Given the description of an element on the screen output the (x, y) to click on. 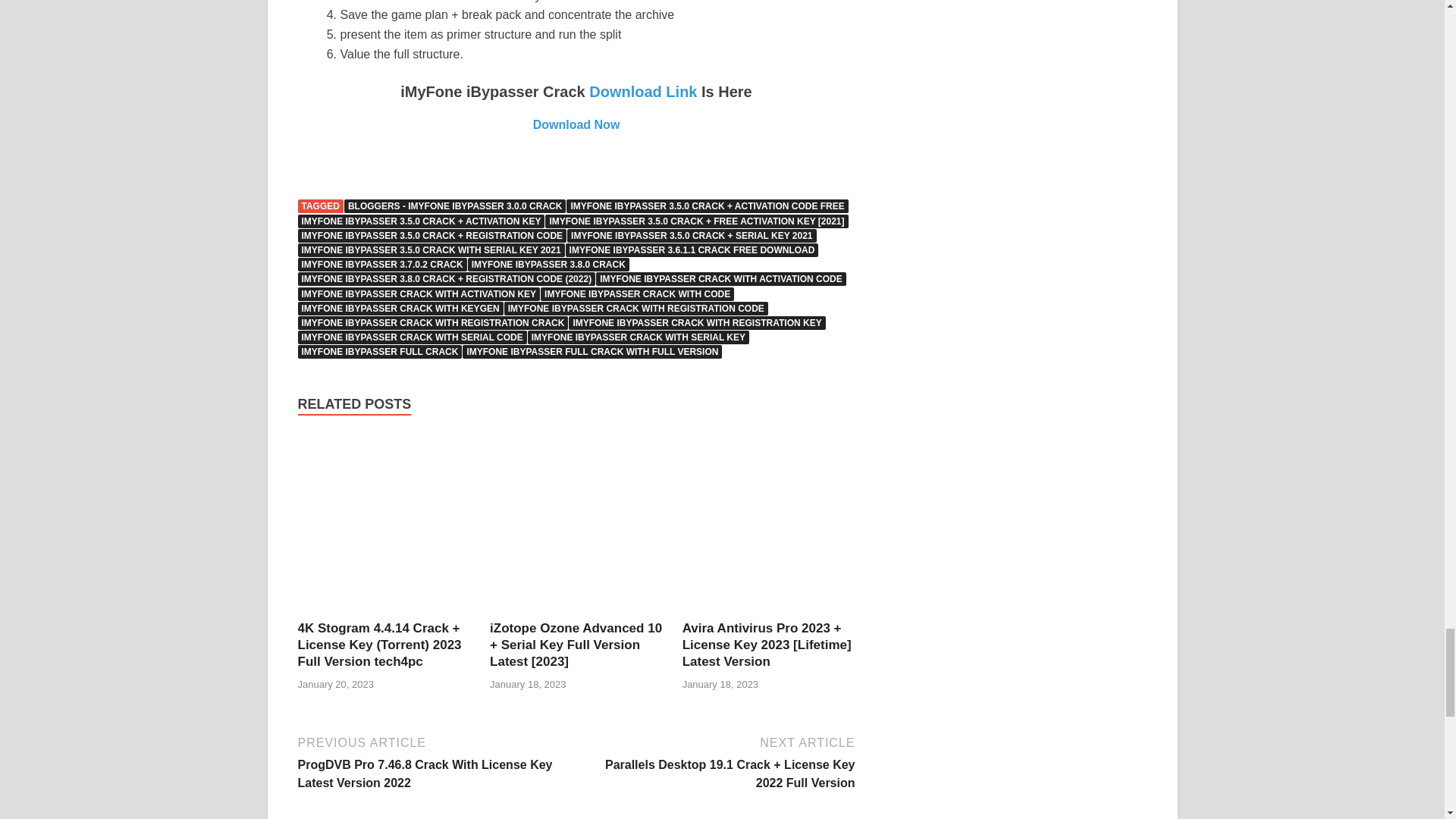
IMYFONE IBYPASSER 3.8.0 CRACK (547, 264)
IMYFONE IBYPASSER 3.7.0.2 CRACK (381, 264)
Download Link (643, 91)
BLOGGERS - IMYFONE IBYPASSER 3.0.0 CRACK (454, 205)
IMYFONE IBYPASSER 3.5.0 CRACK WITH SERIAL KEY 2021 (430, 250)
IMYFONE IBYPASSER 3.6.1.1 CRACK FREE DOWNLOAD (692, 250)
Download Now (576, 124)
